Given the description of an element on the screen output the (x, y) to click on. 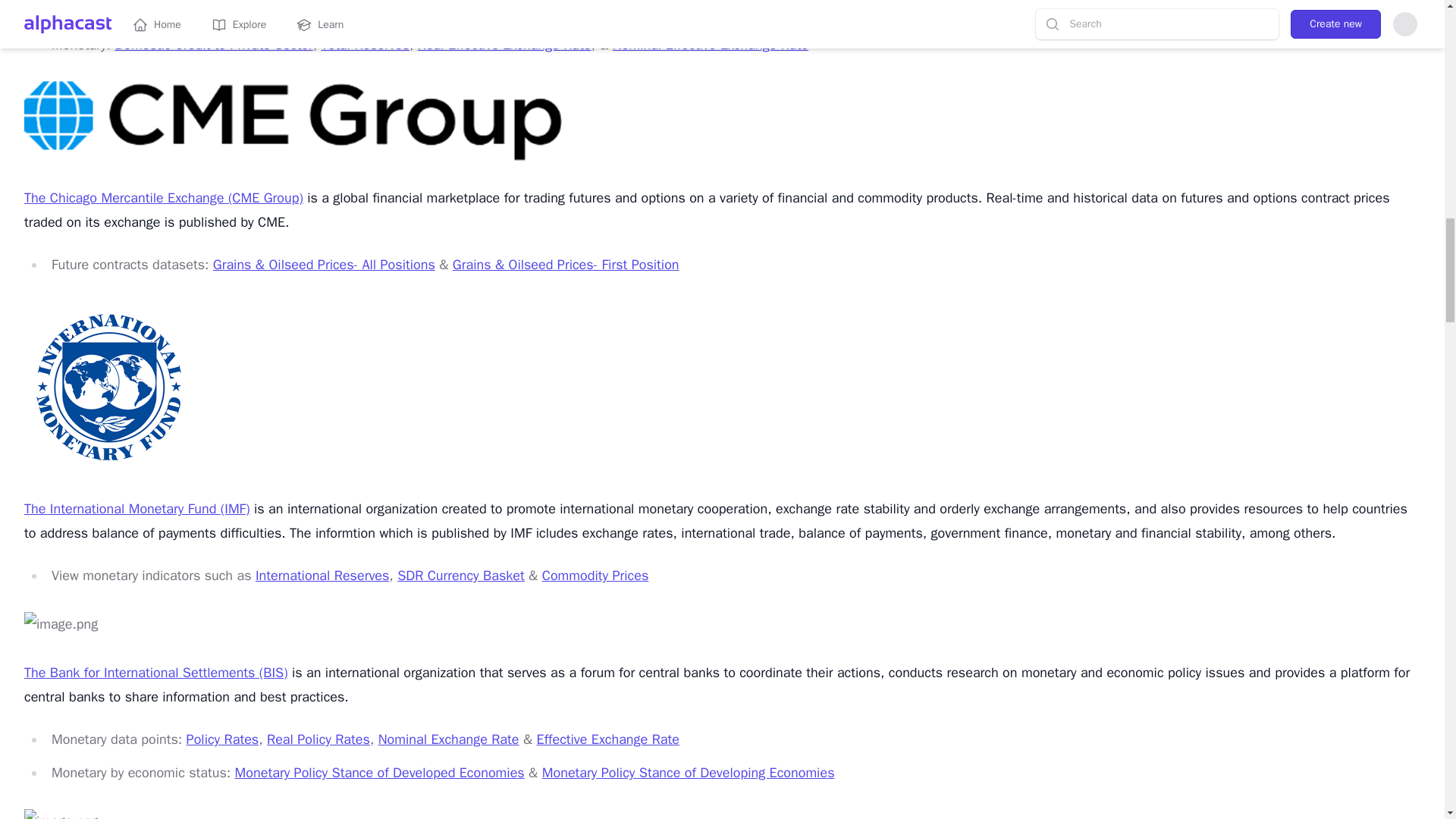
Terms of Trade (279, 11)
Nominal Effective Exchange Rate (710, 44)
Commodities Prices (167, 11)
Domestic Credit to Private Sector (214, 44)
Total Reserves (365, 44)
Real Effective Exchange Rate (504, 44)
Stock Market (381, 11)
International Reserves (322, 575)
